Given the description of an element on the screen output the (x, y) to click on. 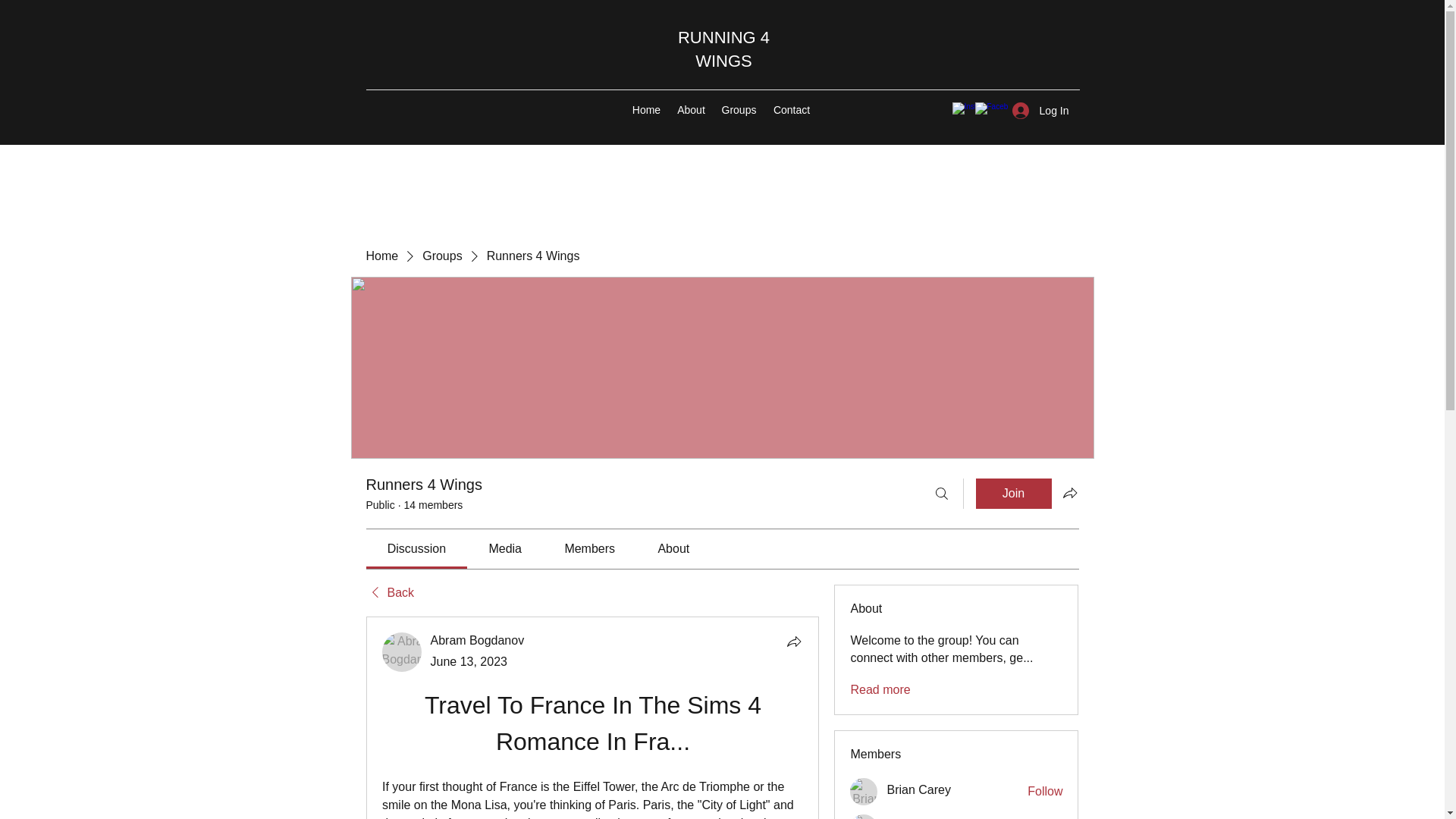
Join (1013, 493)
Brian Carey (863, 791)
Groups (441, 256)
About (690, 110)
Brian Carey (918, 790)
Home (381, 256)
Wesley Moore (863, 816)
Brian Carey (918, 790)
Log In (1040, 111)
Back (389, 592)
